Given the description of an element on the screen output the (x, y) to click on. 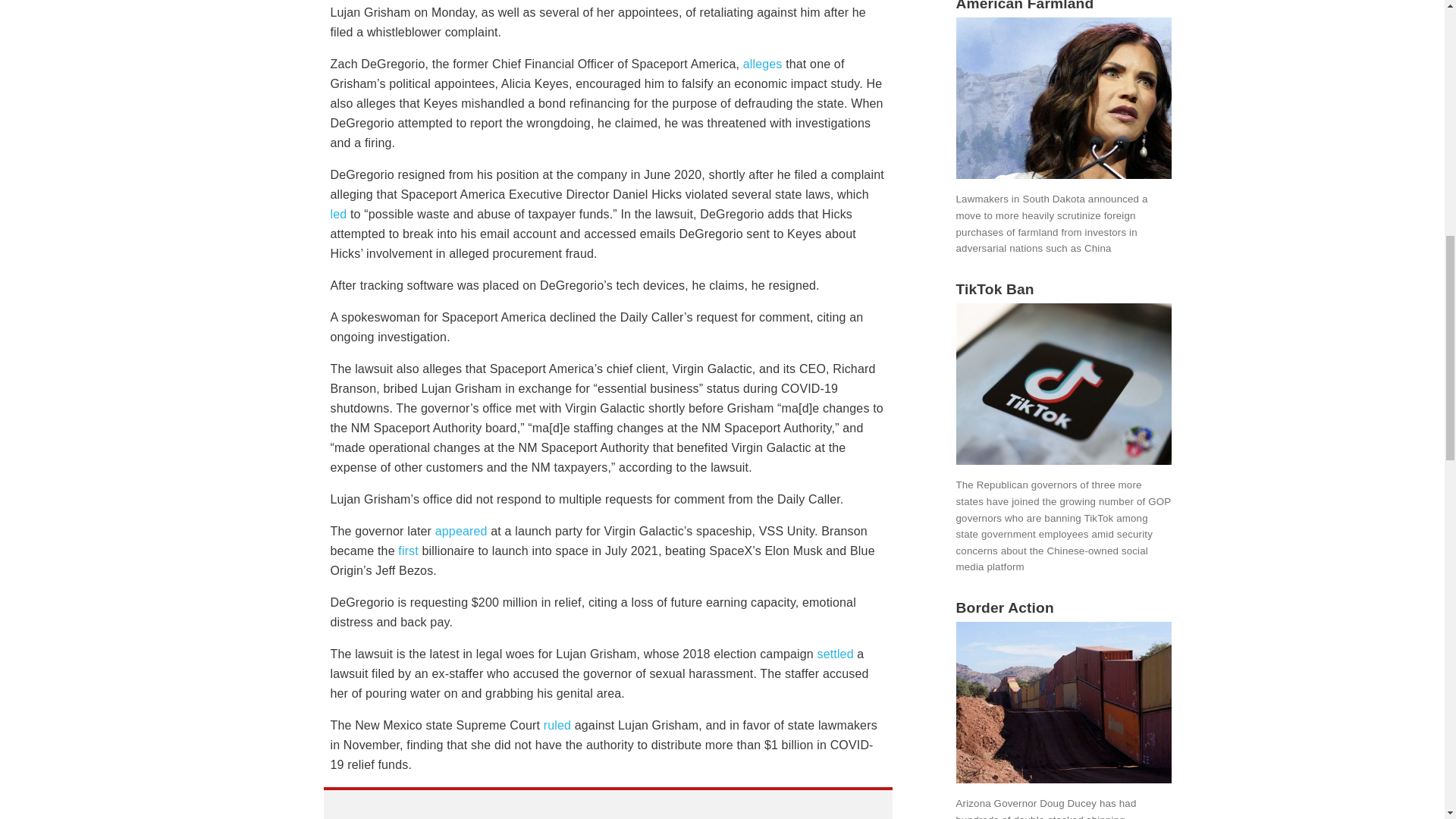
alleges (762, 63)
TikTok Ban (1062, 289)
settled (834, 653)
first (408, 550)
American Farmland (1062, 5)
appeared (461, 530)
led (338, 214)
ruled (556, 725)
